Given the description of an element on the screen output the (x, y) to click on. 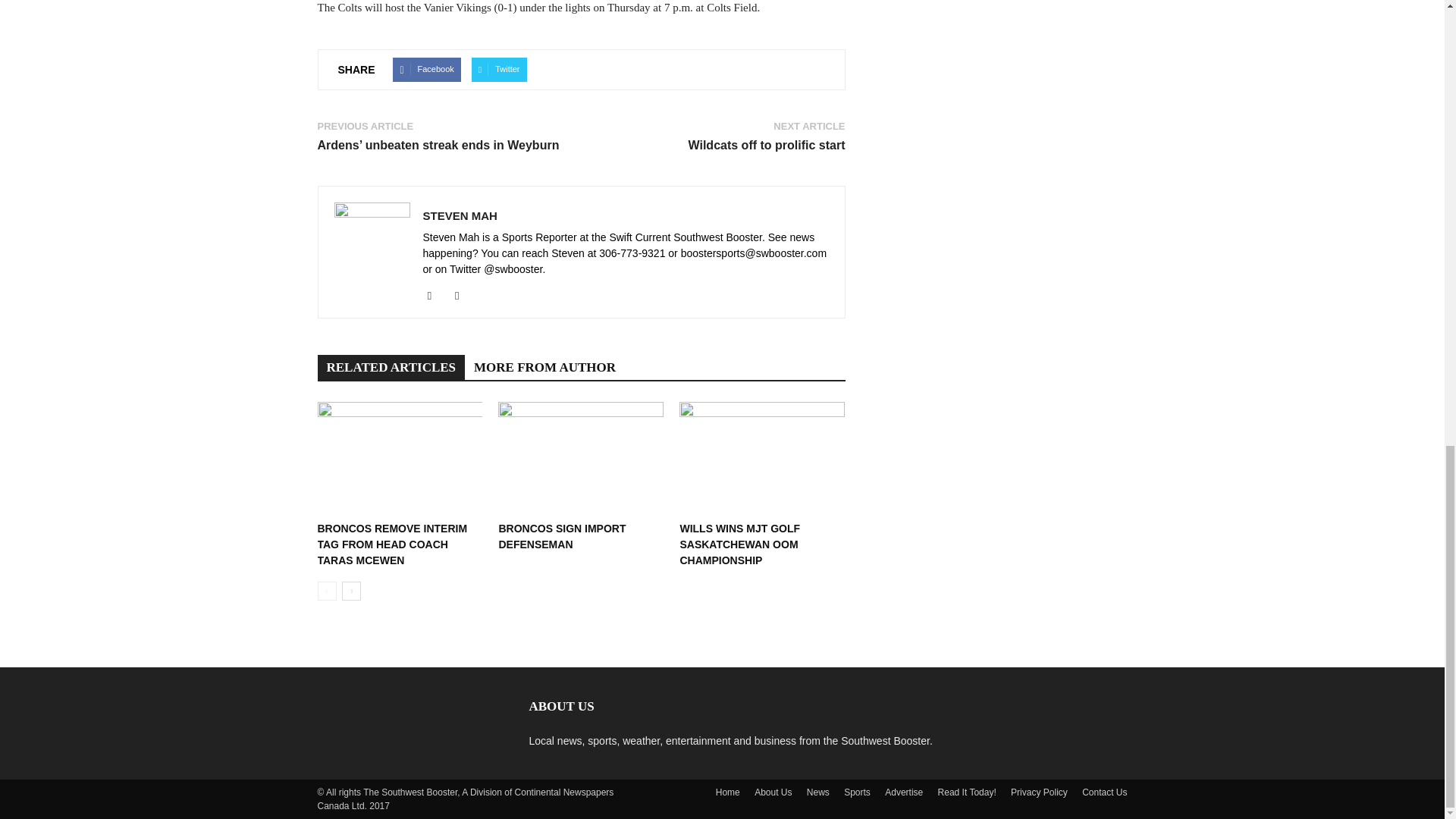
Wills wins MJT Golf Saskatchewan OOM Championship (739, 544)
Wills wins MJT Golf Saskatchewan OOM Championship (761, 458)
Twitter (462, 295)
Twitter (499, 69)
Wildcats off to prolific start (766, 145)
Instagram (435, 295)
Facebook (426, 69)
Broncos sign import defenseman (580, 458)
Broncos remove interim tag from Head Coach Taras McEwen (399, 458)
Broncos sign import defenseman (561, 536)
